Given the description of an element on the screen output the (x, y) to click on. 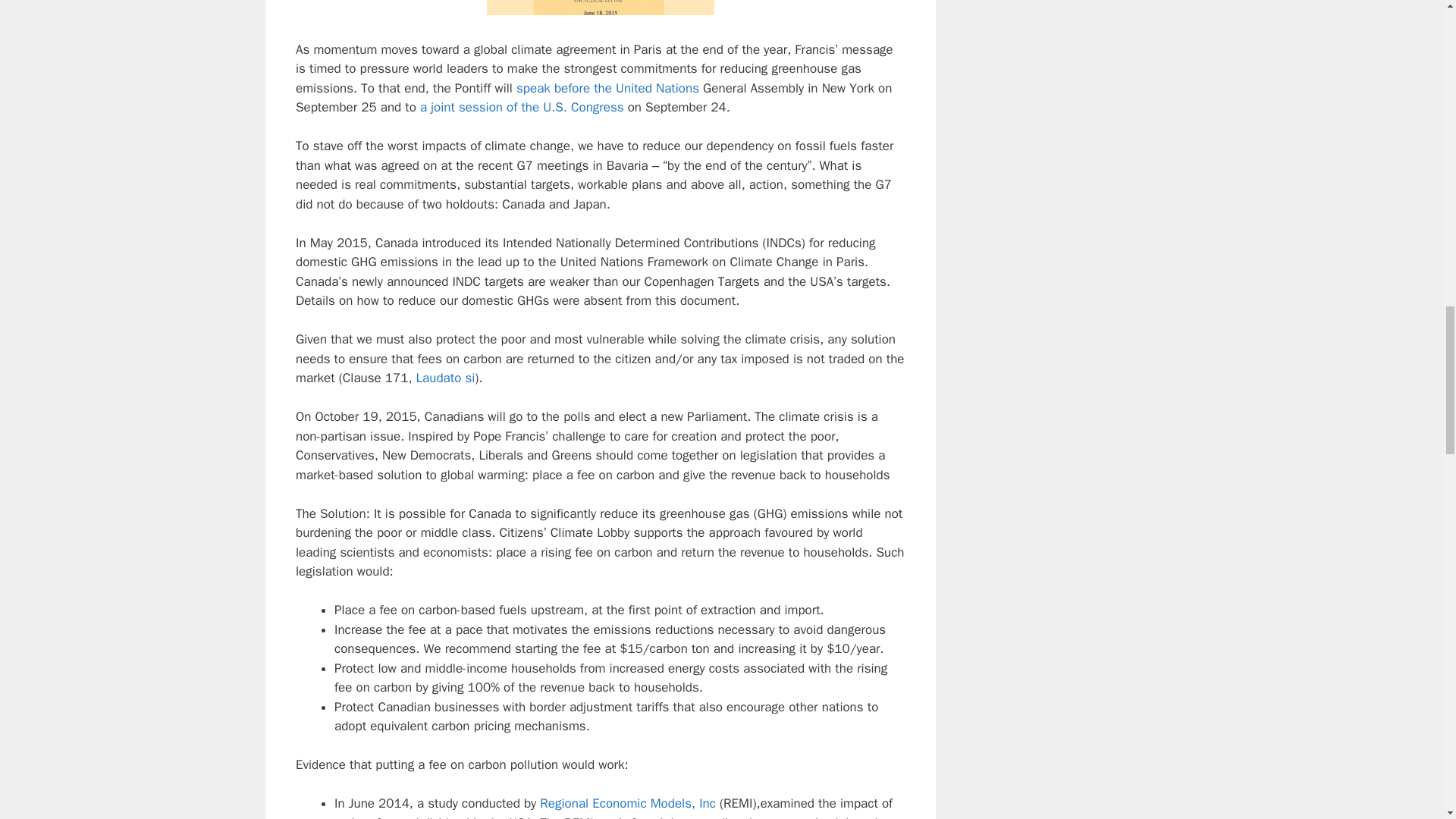
a joint session of the U.S. Congress (522, 107)
Regional Economic Models, Inc (628, 803)
speak before the United Nations (607, 88)
Laudato si (446, 377)
